Given the description of an element on the screen output the (x, y) to click on. 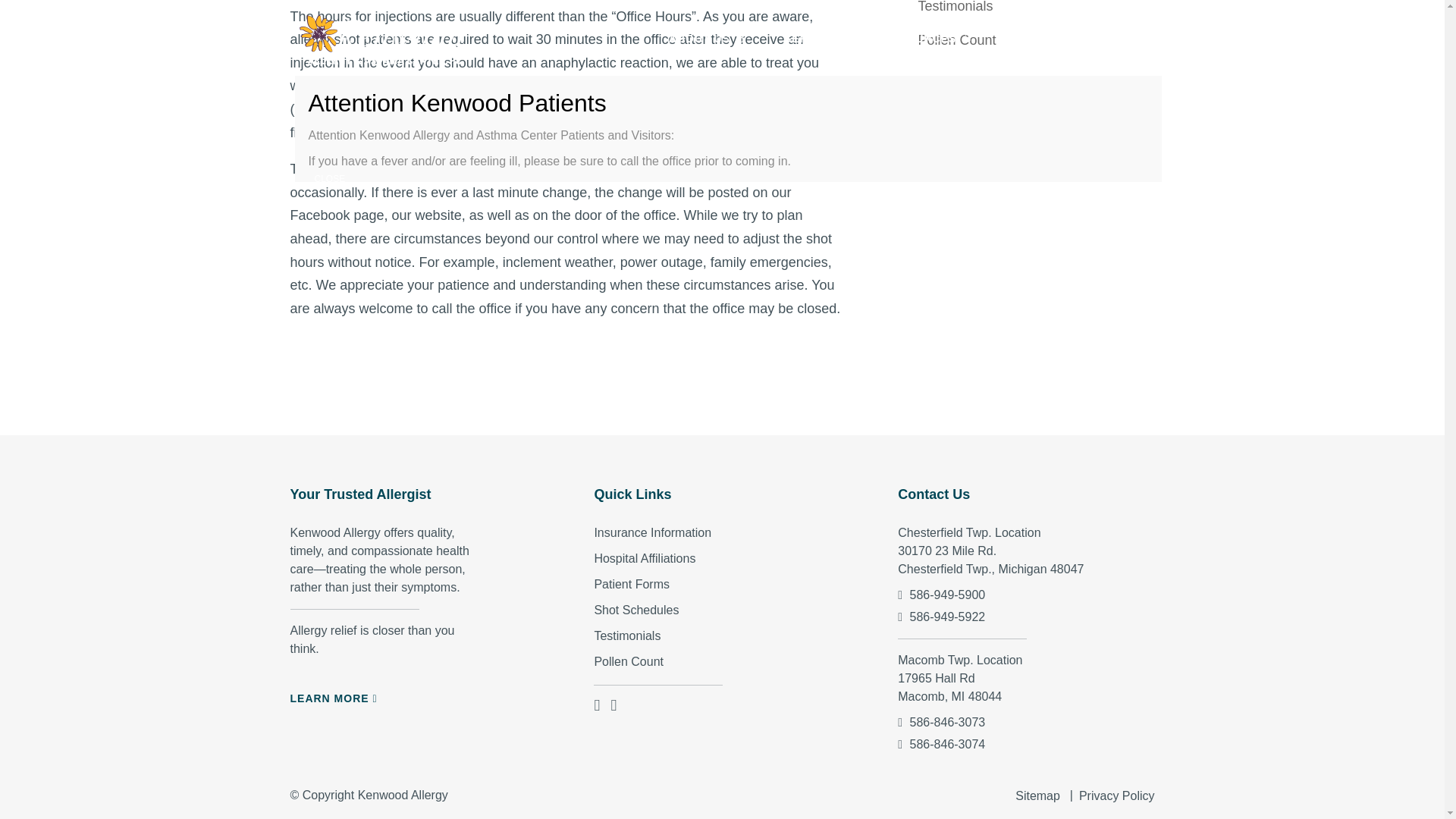
Testimonials (954, 6)
